Given the description of an element on the screen output the (x, y) to click on. 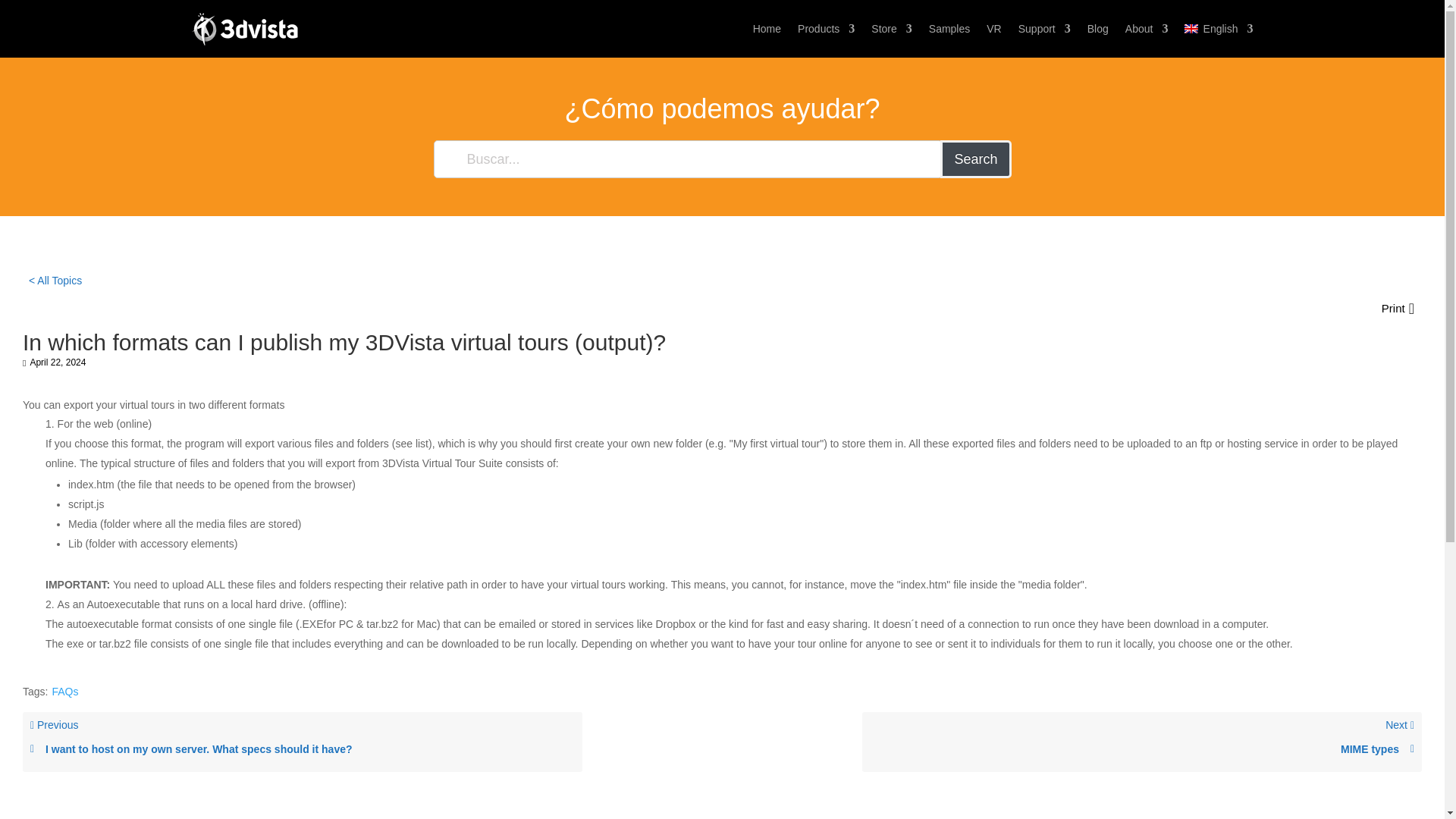
I want to host on my own server. What specs should it have? (302, 749)
English (1218, 28)
Products (825, 28)
MIME types (1141, 749)
Support (1043, 28)
English (1218, 28)
